Given the description of an element on the screen output the (x, y) to click on. 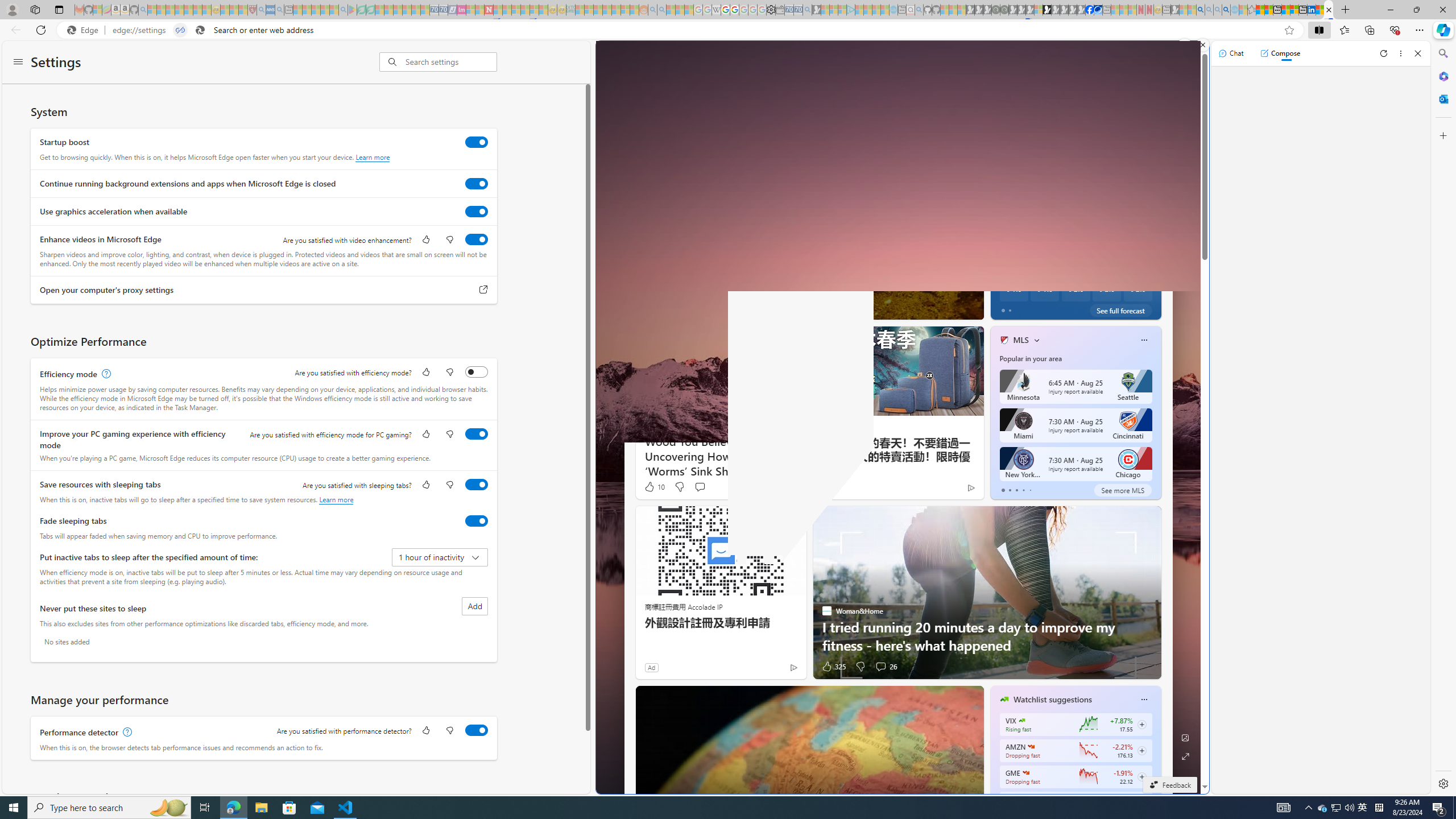
AutomationID: tab-16 (786, 308)
View comments 15 Comment (704, 307)
CBOE Market Volatility Index (1021, 720)
Learn more (335, 499)
How to Turn Off Copilot in Windows 11 (1159, 287)
